Given the description of an element on the screen output the (x, y) to click on. 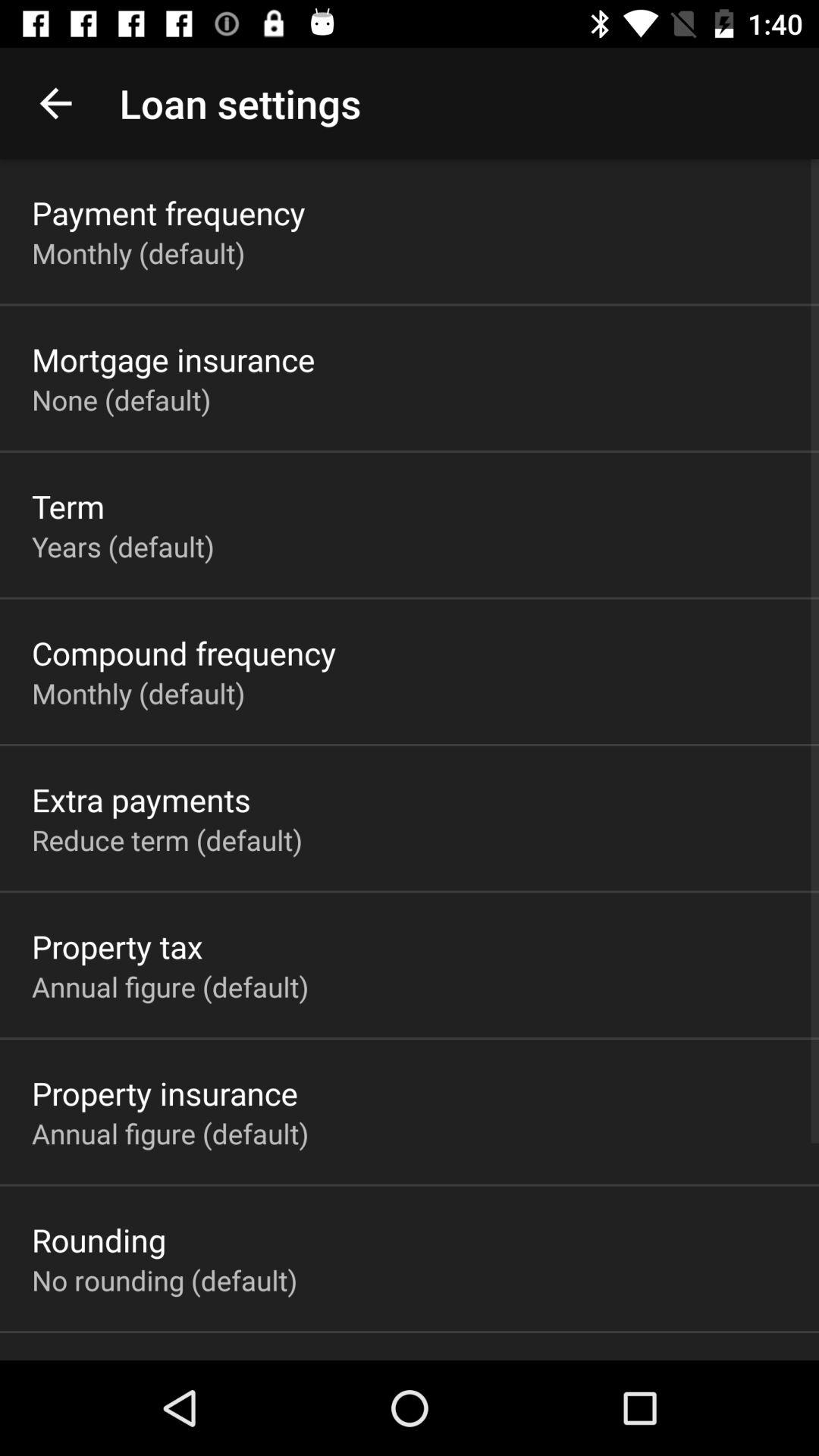
flip to property insurance app (164, 1092)
